Given the description of an element on the screen output the (x, y) to click on. 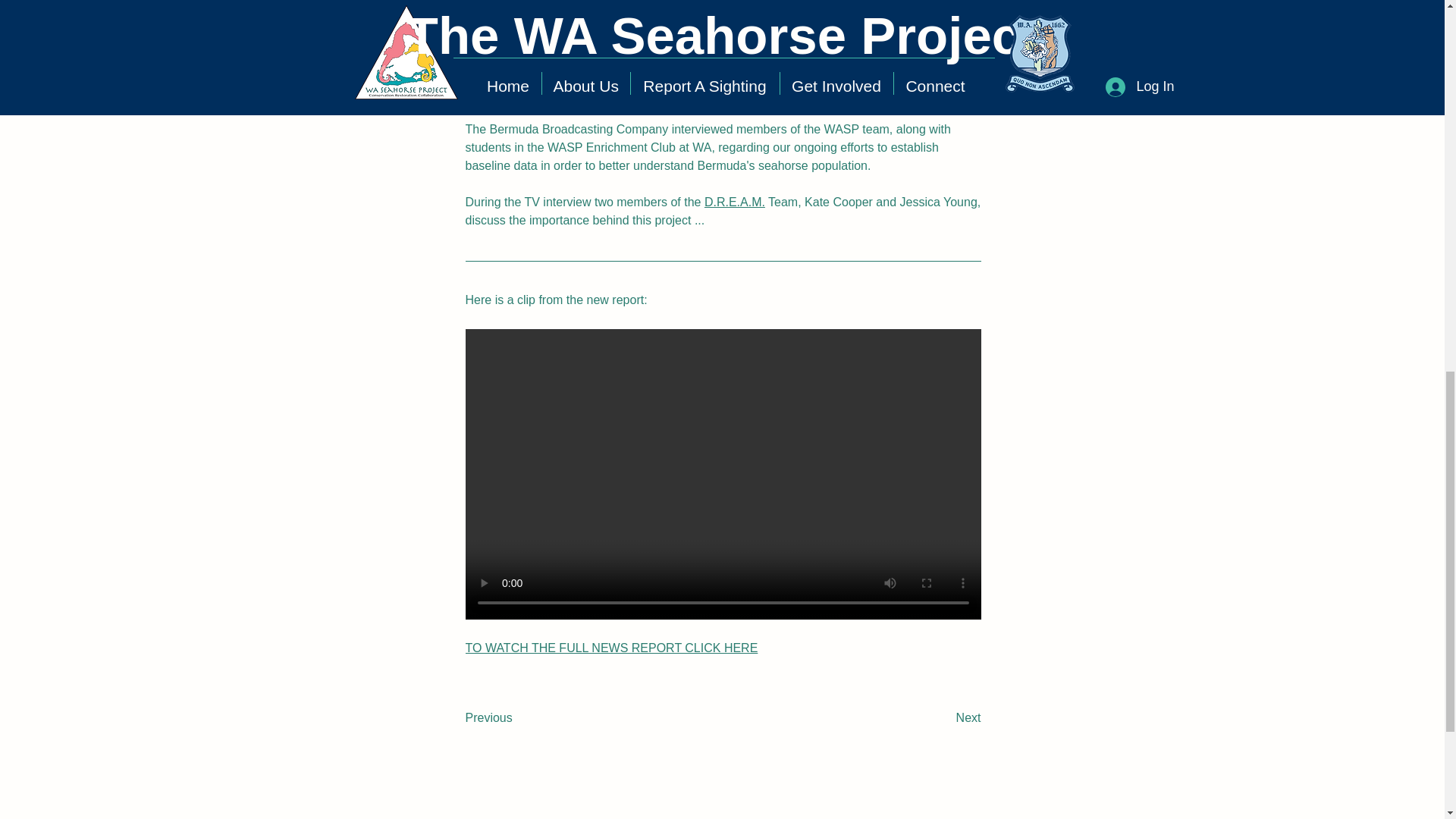
Next (943, 718)
Previous (515, 718)
TO WATCH THE FULL NEWS REPORT CLICK HERE (611, 647)
